Given the description of an element on the screen output the (x, y) to click on. 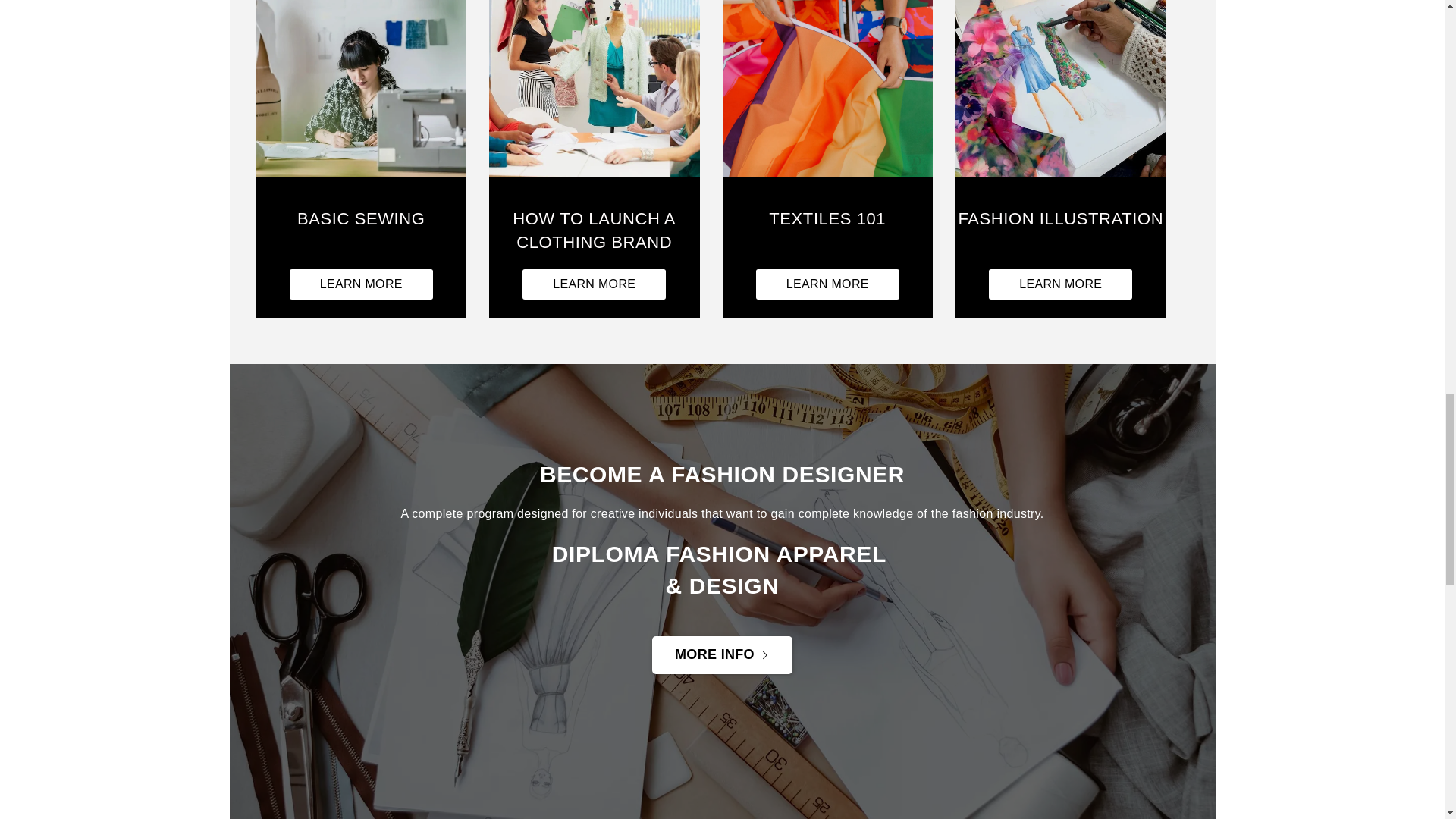
Basic Sewing (361, 96)
Textiles 101 (827, 232)
Basic Sewing (361, 232)
How to Launch a Clothing Brand (593, 284)
Textiles 101 (827, 96)
How to Launch a Clothing Brand (594, 232)
Fashion Illustration (1060, 284)
How to Launch a Clothing Brand (594, 96)
Textiles 101 (827, 284)
Fashion Illustration (1060, 232)
